Given the description of an element on the screen output the (x, y) to click on. 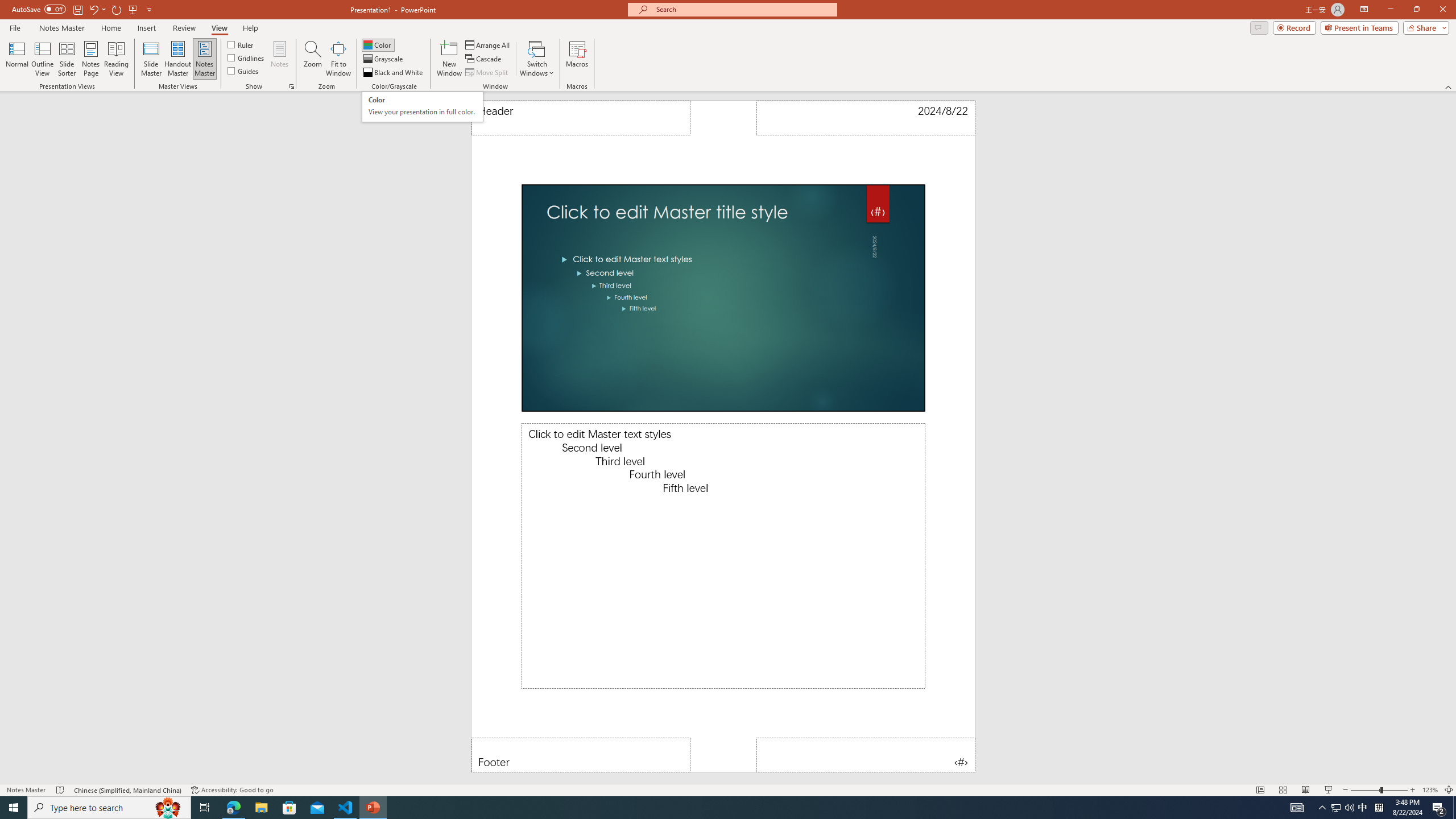
Fit to Window (338, 58)
Notes (279, 58)
Notes Master (61, 28)
Footer (580, 754)
Macros (576, 58)
Grid Settings... (291, 85)
